Given the description of an element on the screen output the (x, y) to click on. 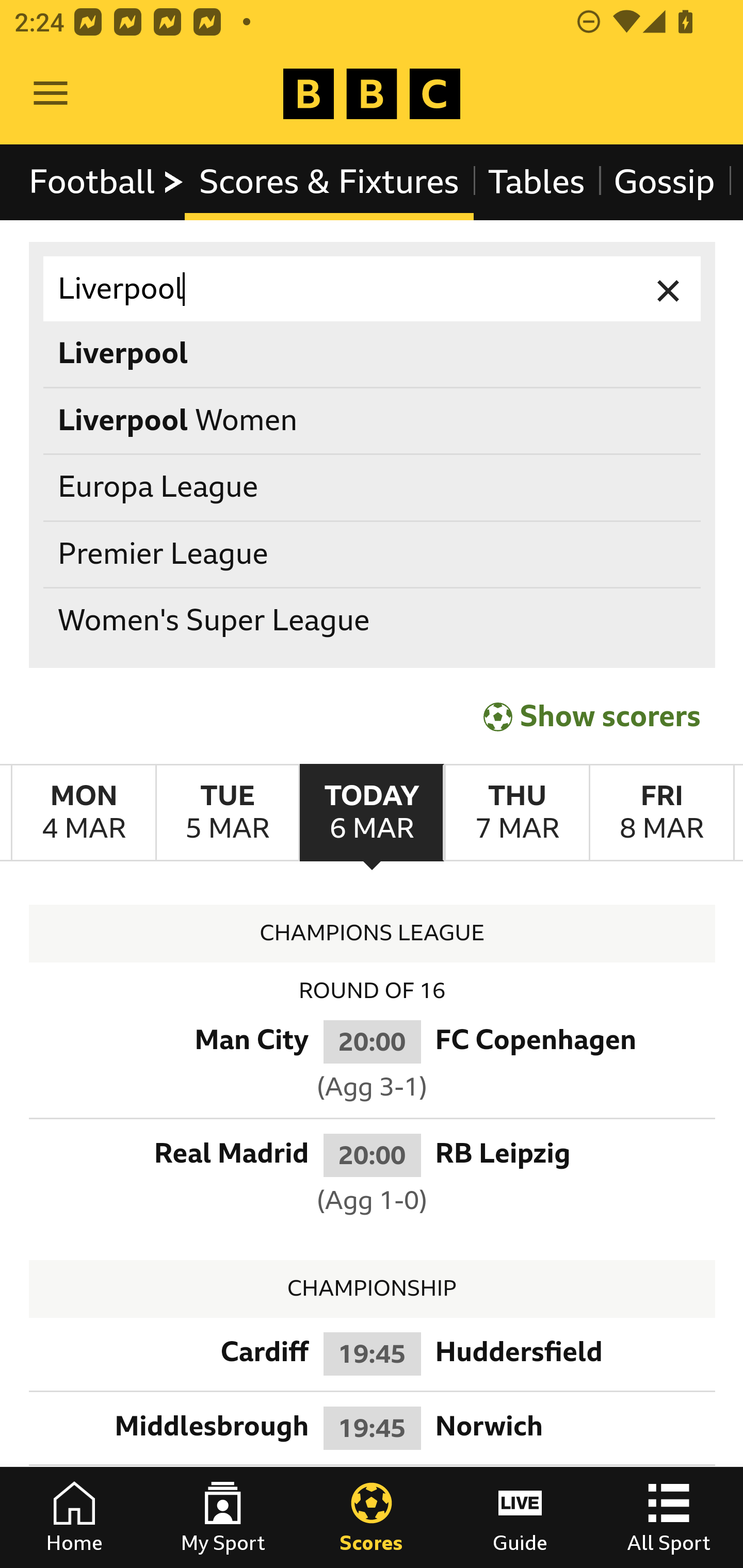
Open Menu (50, 93)
Football  (106, 181)
Scores & Fixtures (329, 181)
Tables (536, 181)
Gossip (664, 181)
Liverpool (372, 289)
Clear input (669, 289)
Liverpool Women Liverpool  Women (372, 419)
Europa League (372, 488)
Premier League (372, 554)
Women's Super League (372, 620)
Show scorers (591, 716)
MondayMarch 4th Monday March 4th (83, 812)
TuesdayMarch 5th Tuesday March 5th (227, 812)
ThursdayMarch 7th Thursday March 7th (516, 812)
FridayMarch 8th Friday March 8th (661, 812)
Home (74, 1517)
My Sport (222, 1517)
Guide (519, 1517)
All Sport (668, 1517)
